Given the description of an element on the screen output the (x, y) to click on. 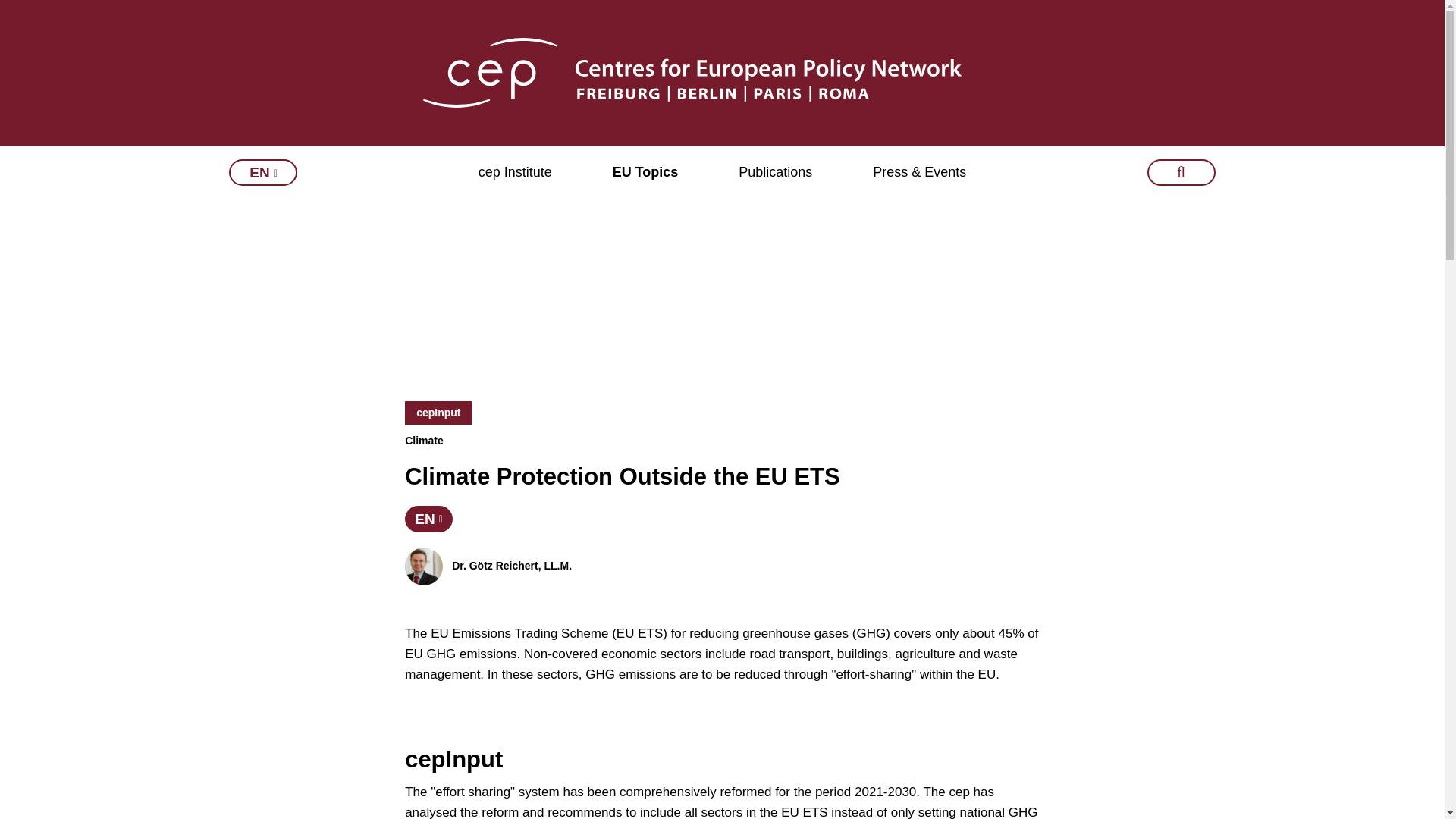
EU Topics (645, 172)
Publications (775, 172)
cep Institute (515, 172)
cep - Centre for European Policy Network (722, 72)
cep Institute (515, 172)
EU Topics (645, 172)
